Given the description of an element on the screen output the (x, y) to click on. 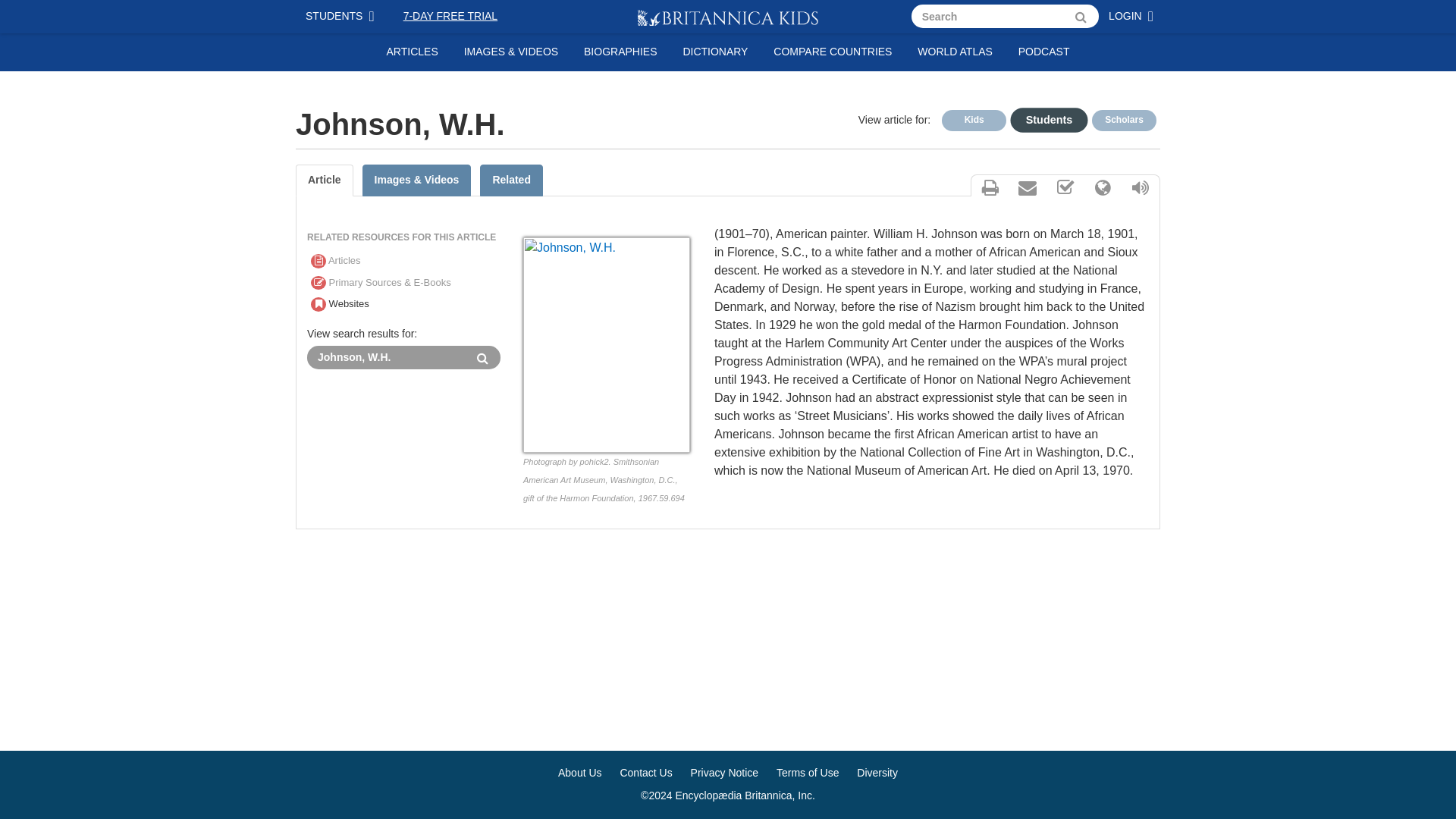
Johnson, W.H. (386, 357)
Grades 6-8 (1042, 118)
STUDENTS (342, 16)
Johnson, W.H. (386, 357)
